Given the description of an element on the screen output the (x, y) to click on. 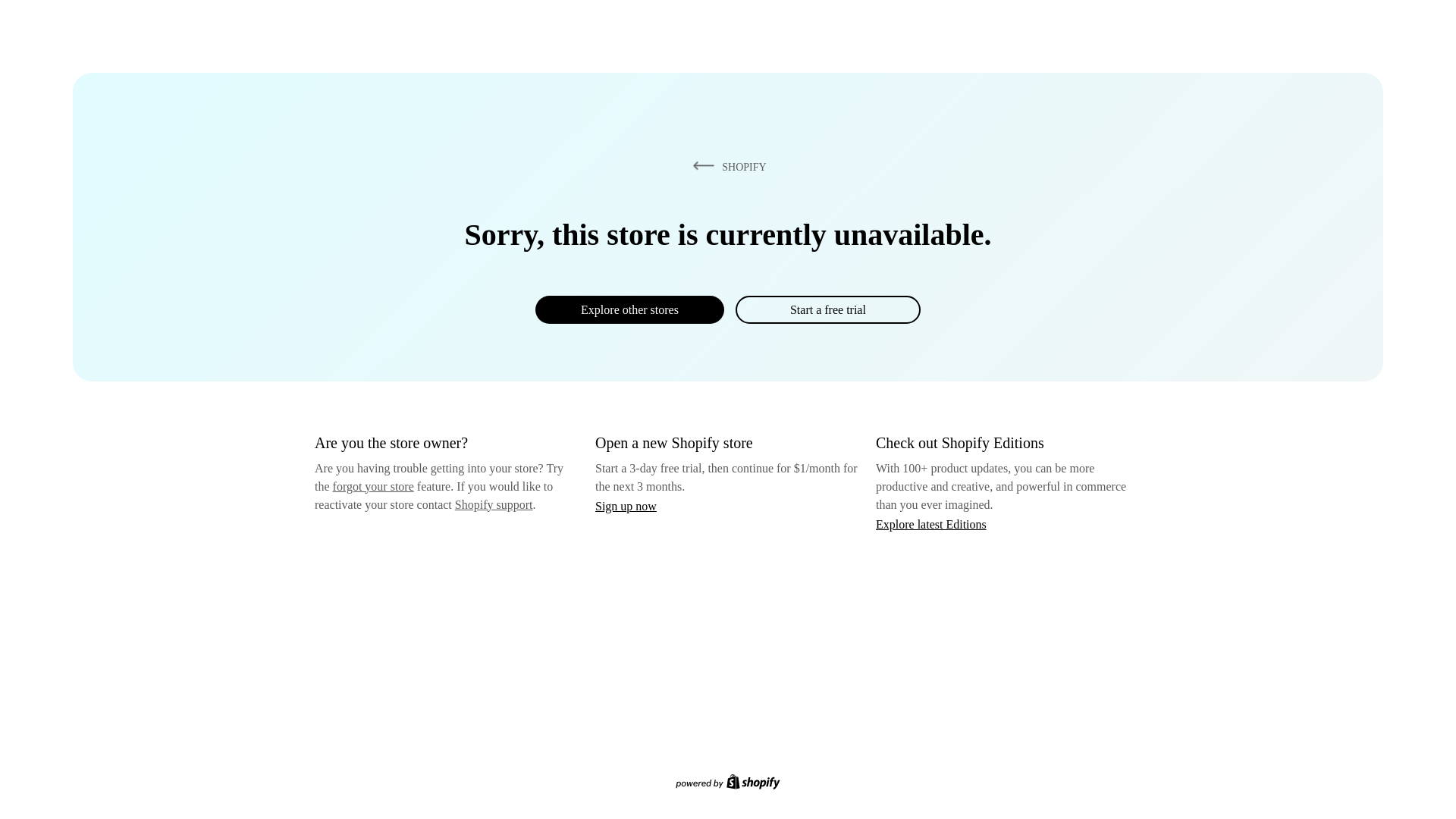
Sign up now (625, 505)
Shopify support (493, 504)
Explore latest Editions (931, 523)
Start a free trial (827, 309)
forgot your store (373, 486)
SHOPIFY (726, 166)
Explore other stores (629, 309)
